Given the description of an element on the screen output the (x, y) to click on. 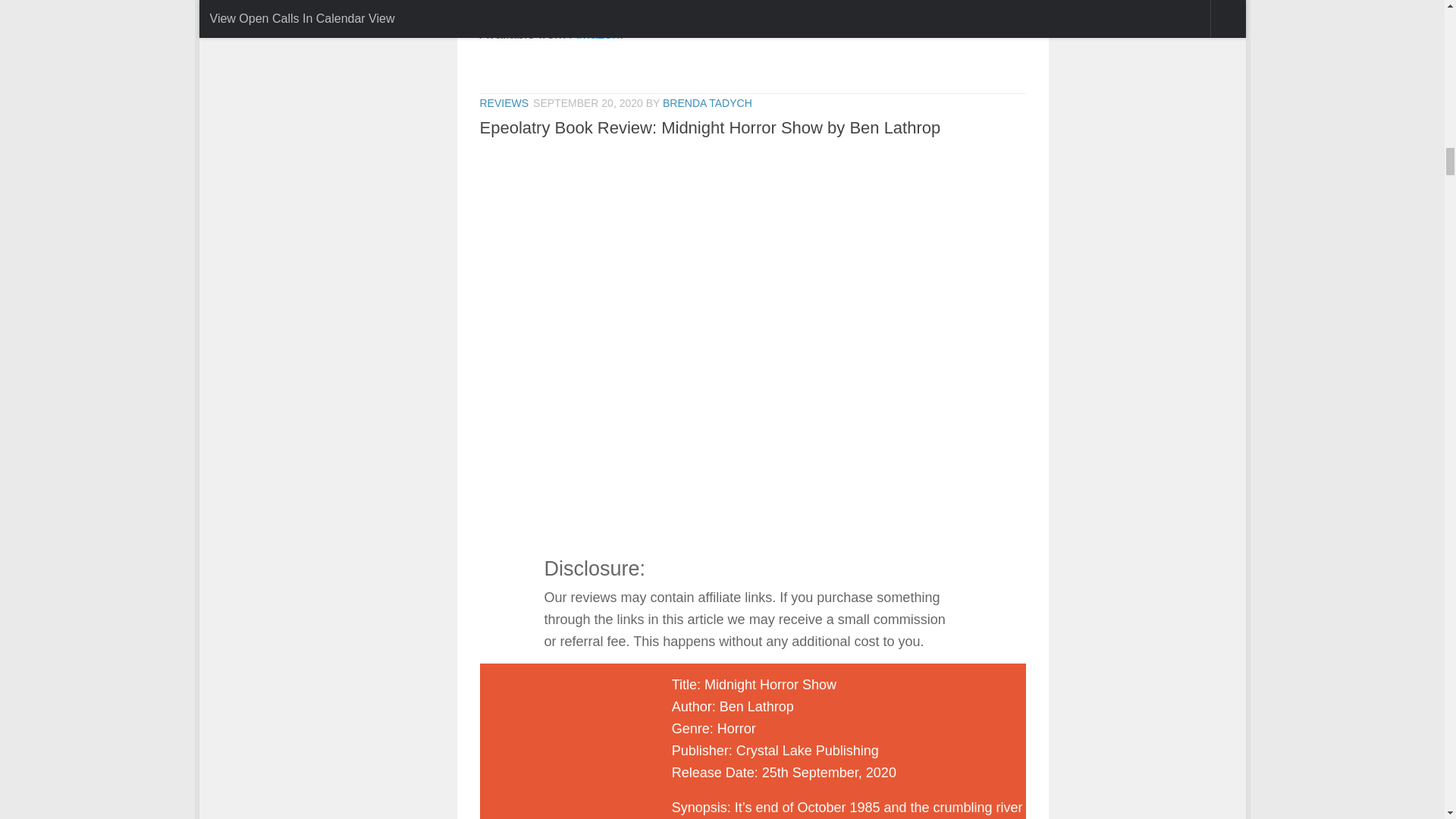
Posts by Brenda Tadych (707, 102)
midnight (560, 746)
